Given the description of an element on the screen output the (x, y) to click on. 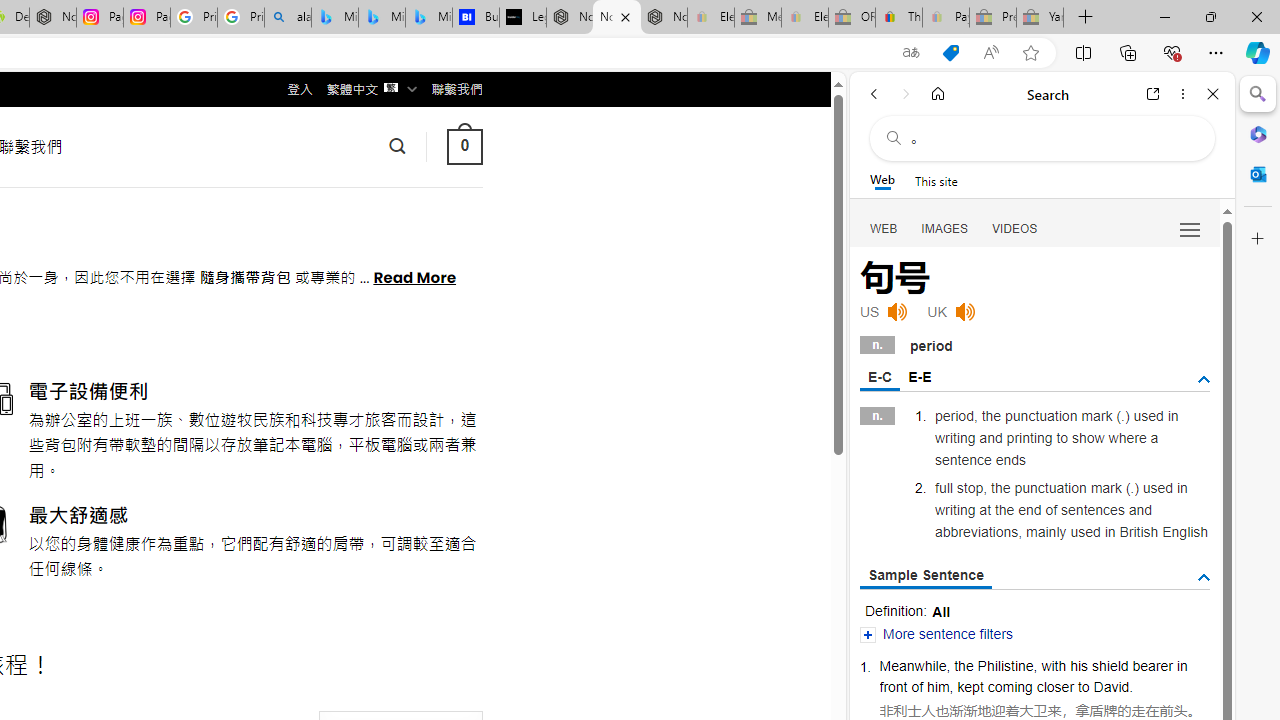
  0   (464, 146)
